Given the description of an element on the screen output the (x, y) to click on. 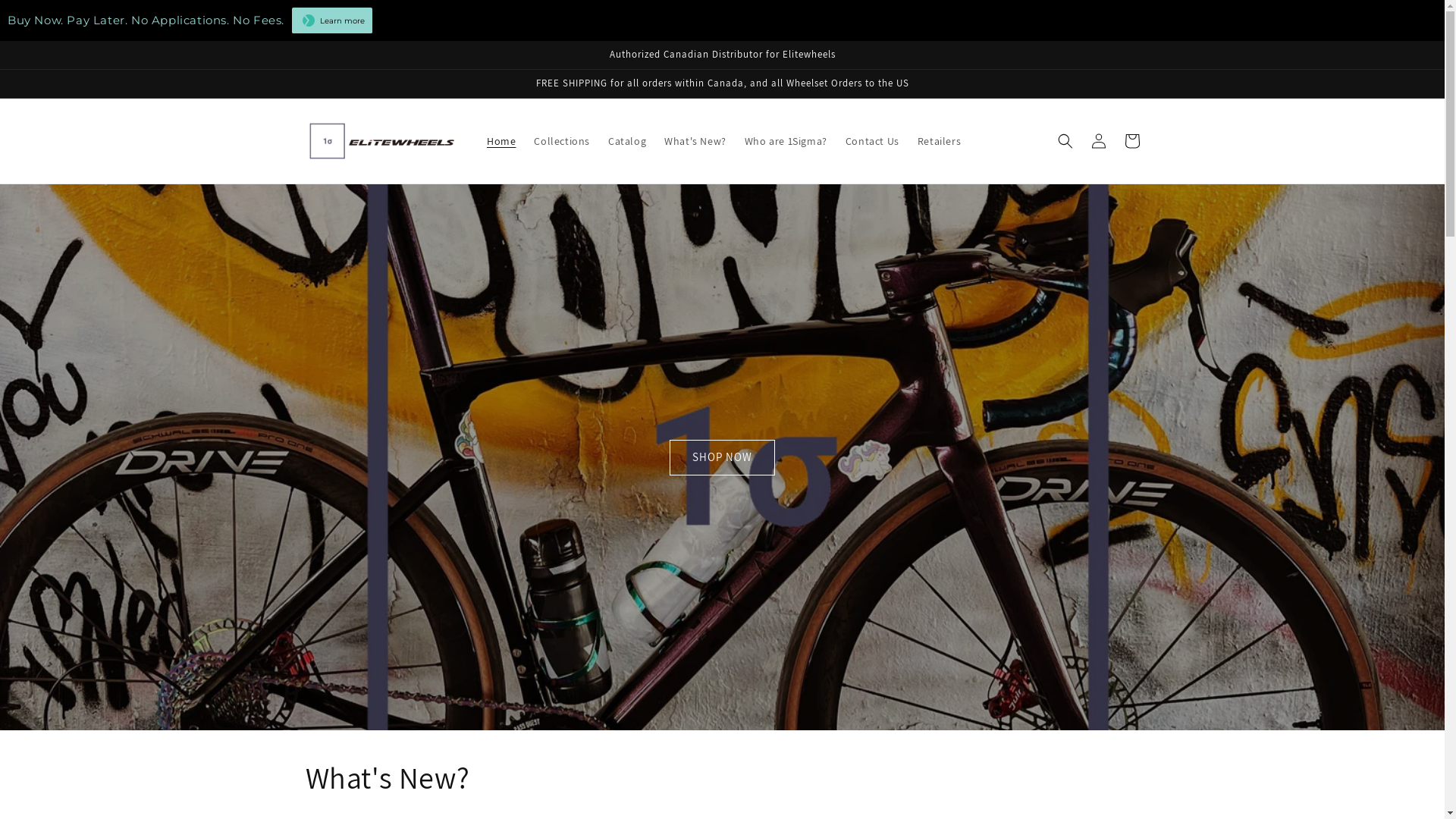
Home Element type: text (500, 140)
Contact Us Element type: text (872, 140)
Collections Element type: text (561, 140)
What's New? Element type: text (695, 140)
Cart Element type: text (1131, 140)
SHOP NOW Element type: text (722, 457)
Retailers Element type: text (938, 140)
Who are 1Sigma? Element type: text (785, 140)
Log in Element type: text (1097, 140)
Catalog Element type: text (627, 140)
